Given the description of an element on the screen output the (x, y) to click on. 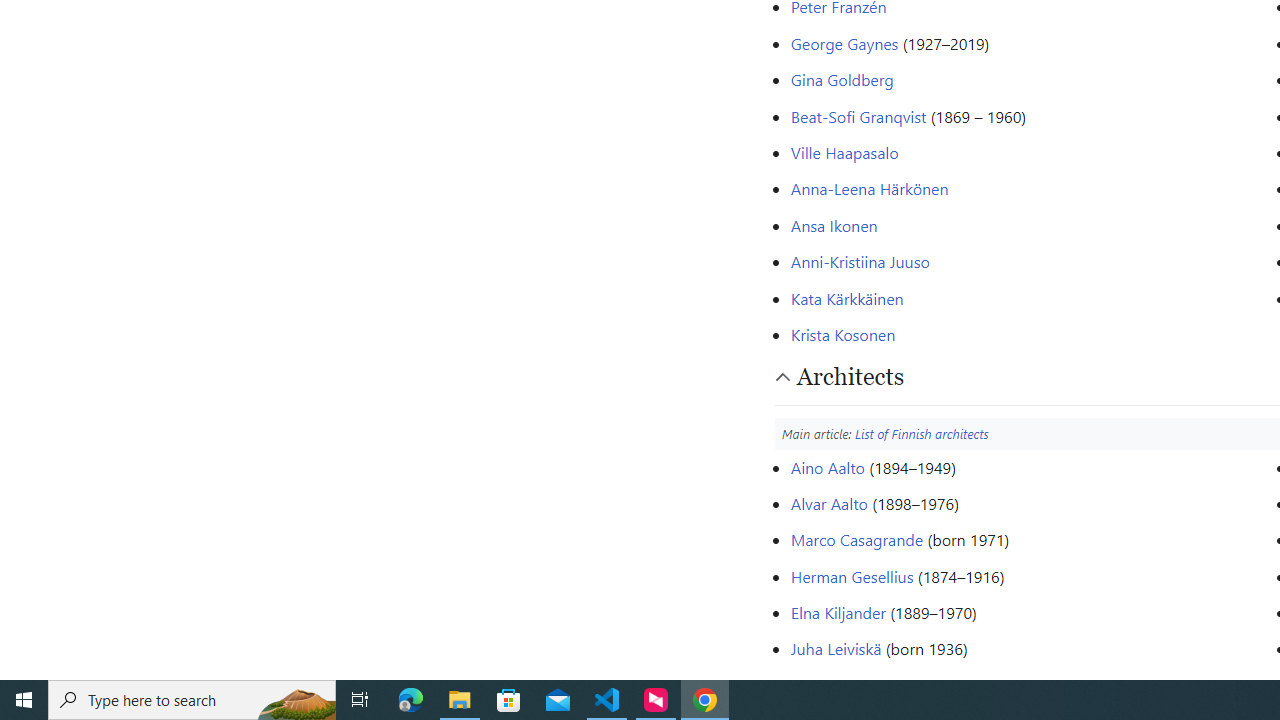
Anni-Kristiina Juuso (859, 261)
Ansa Ikonen (833, 224)
List of Finnish architects (922, 433)
Gina Goldberg (841, 79)
Ville Haapasalo (843, 151)
Elna Kiljander (837, 612)
George Gaynes (843, 42)
Alvar Aalto (828, 502)
Herman Gesellius (851, 575)
Krista Kosonen (842, 333)
Aino Aalto (827, 466)
Marco Casagrande (856, 539)
